Given the description of an element on the screen output the (x, y) to click on. 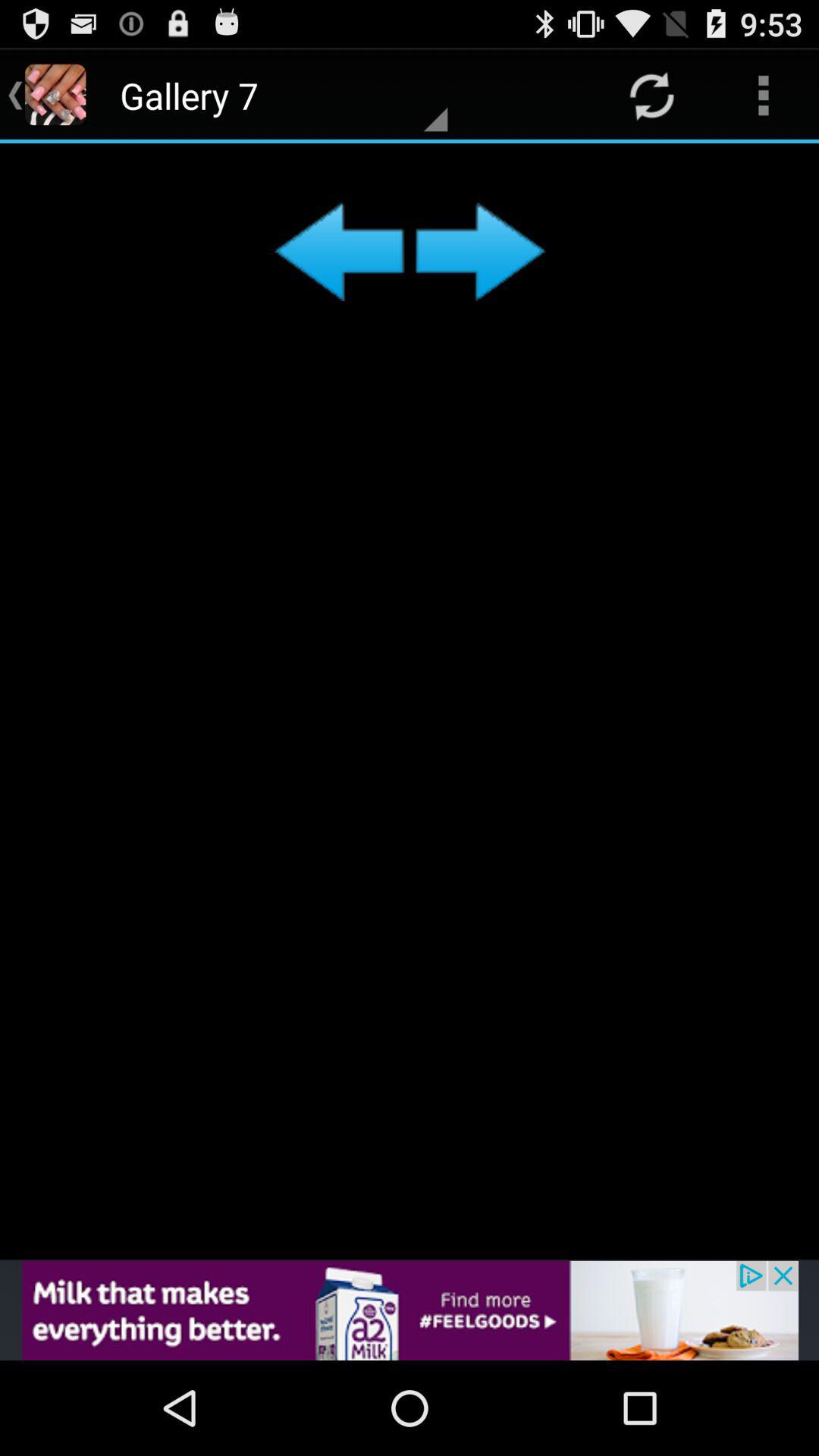
click advertisement to go to advertisement page (409, 1310)
